Given the description of an element on the screen output the (x, y) to click on. 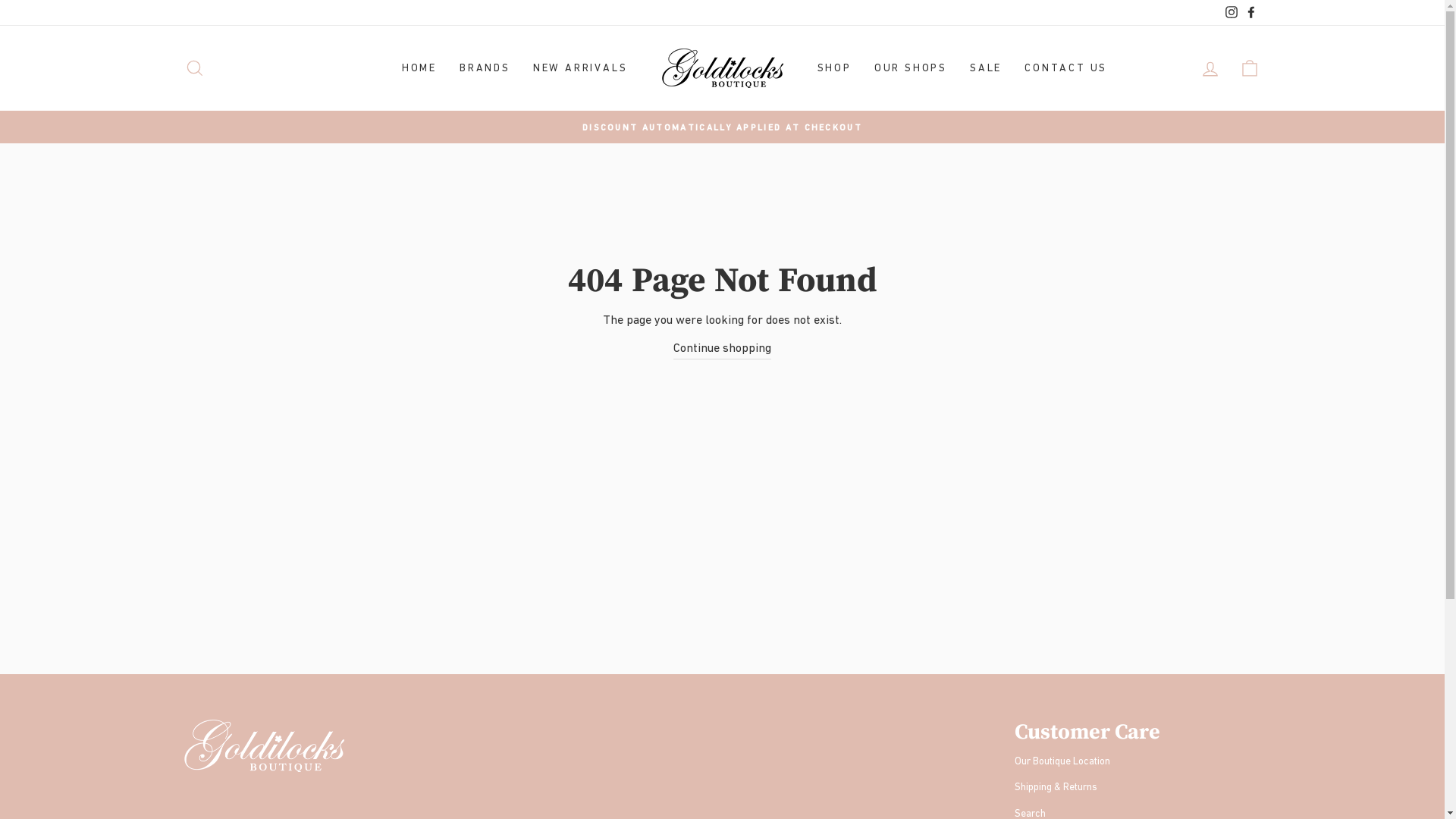
Our Boutique Location Element type: text (1062, 760)
Skip to content Element type: text (0, 0)
CART Element type: text (1249, 68)
BRANDS Element type: text (484, 68)
Instagram Element type: text (1230, 12)
SEARCH Element type: text (193, 68)
NEW ARRIVALS Element type: text (580, 68)
OUR SHOPS Element type: text (910, 68)
HOME Element type: text (419, 68)
Facebook Element type: text (1250, 12)
Continue shopping Element type: text (722, 347)
CONTACT US Element type: text (1065, 68)
SHOP Element type: text (833, 68)
SALE Element type: text (985, 68)
LOG IN Element type: text (1210, 68)
Shipping & Returns Element type: text (1055, 786)
